Given the description of an element on the screen output the (x, y) to click on. 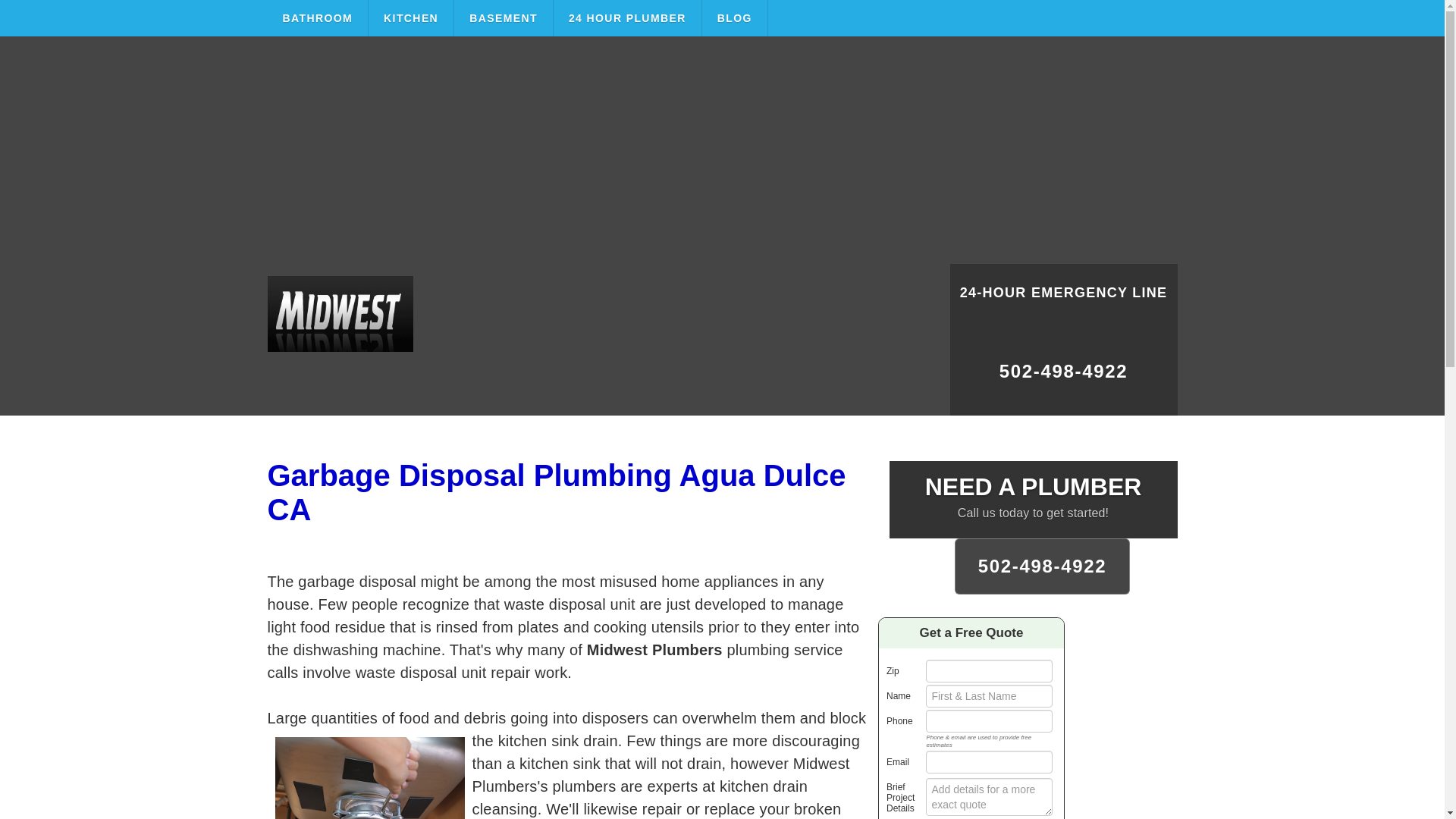
24-HOUR EMERGENCY LINE (1062, 301)
BATHROOM (317, 18)
KITCHEN (411, 18)
502-498-4922 (1043, 566)
BLOG (734, 18)
24 HOUR PLUMBER (627, 18)
502-498-4922 (1062, 377)
BASEMENT (503, 18)
